Given the description of an element on the screen output the (x, y) to click on. 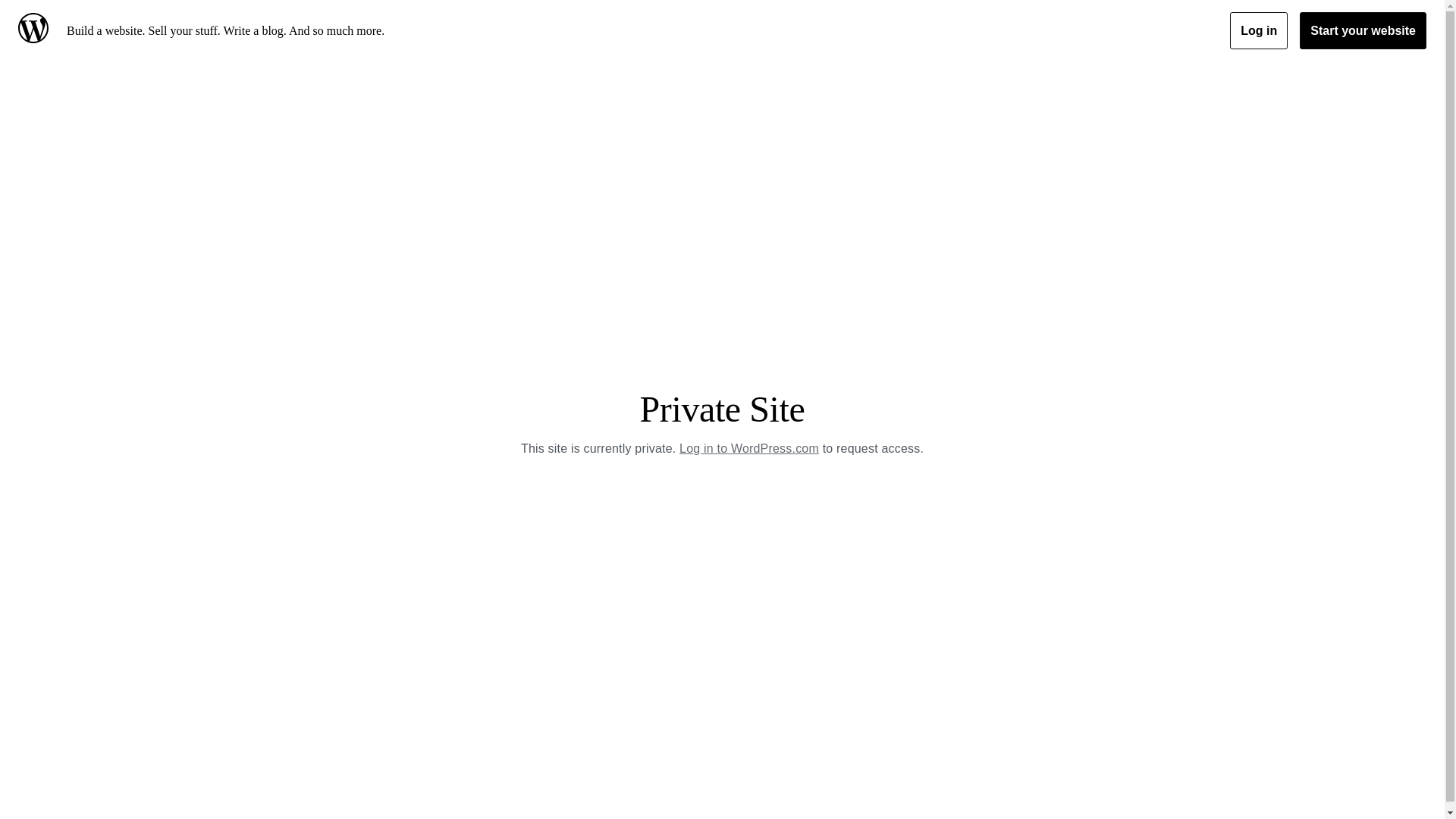
WordPress.com Element type: text (36, 30)
Log in Element type: text (1258, 30)
Log in to WordPress.com Element type: text (749, 448)
Start your website Element type: text (1362, 30)
